Given the description of an element on the screen output the (x, y) to click on. 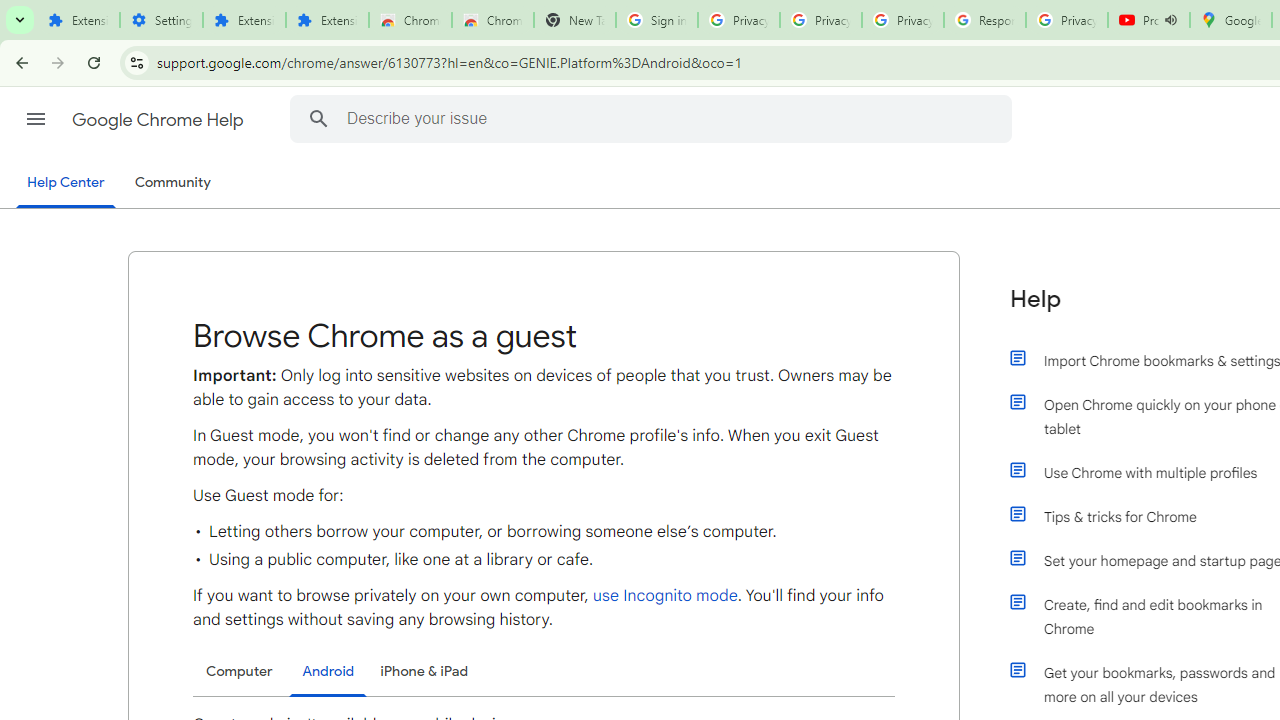
Computer (239, 671)
